Given the description of an element on the screen output the (x, y) to click on. 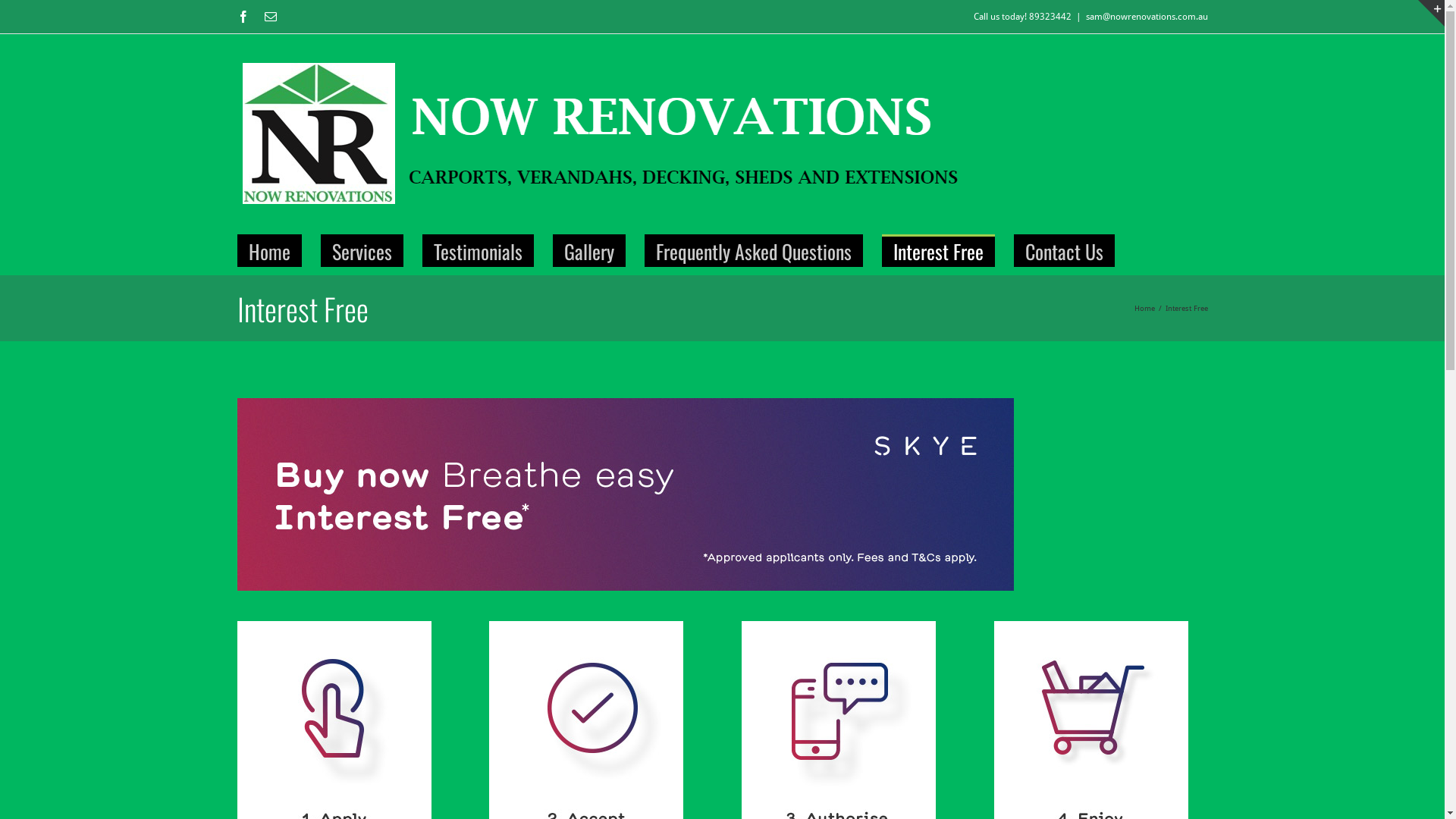
Home Element type: text (1144, 307)
Testimonials Element type: text (477, 250)
Frequently Asked Questions Element type: text (753, 250)
Contact Us Element type: text (1063, 250)
sam@nowrenovations.com.au Element type: text (1146, 16)
Services Element type: text (361, 250)
Home Element type: text (268, 250)
Gallery Element type: text (588, 250)
Interest Free Element type: text (937, 250)
